Given the description of an element on the screen output the (x, y) to click on. 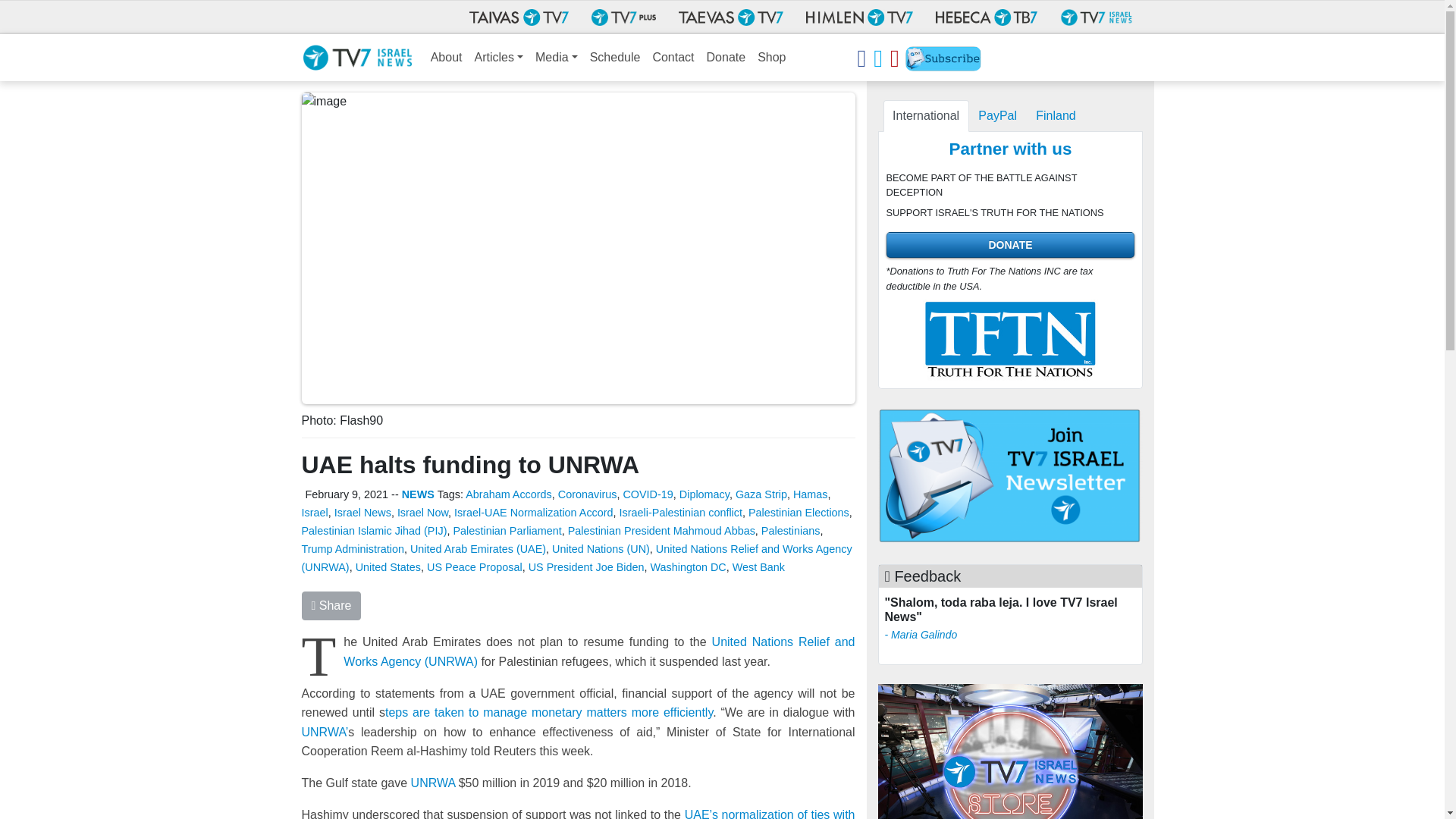
About (446, 57)
Palestinian Elections (798, 512)
NEWS (417, 494)
Hamas (810, 494)
Israel (315, 512)
Gaza Strip (761, 494)
Shop (771, 57)
Palestinian President Mahmoud Abbas (661, 530)
Israel Now (422, 512)
Israeli-Palestinian conflict (681, 512)
Donate (726, 57)
Articles (498, 57)
Palestinian Parliament (506, 530)
Schedule (614, 57)
Newsletter (943, 60)
